Given the description of an element on the screen output the (x, y) to click on. 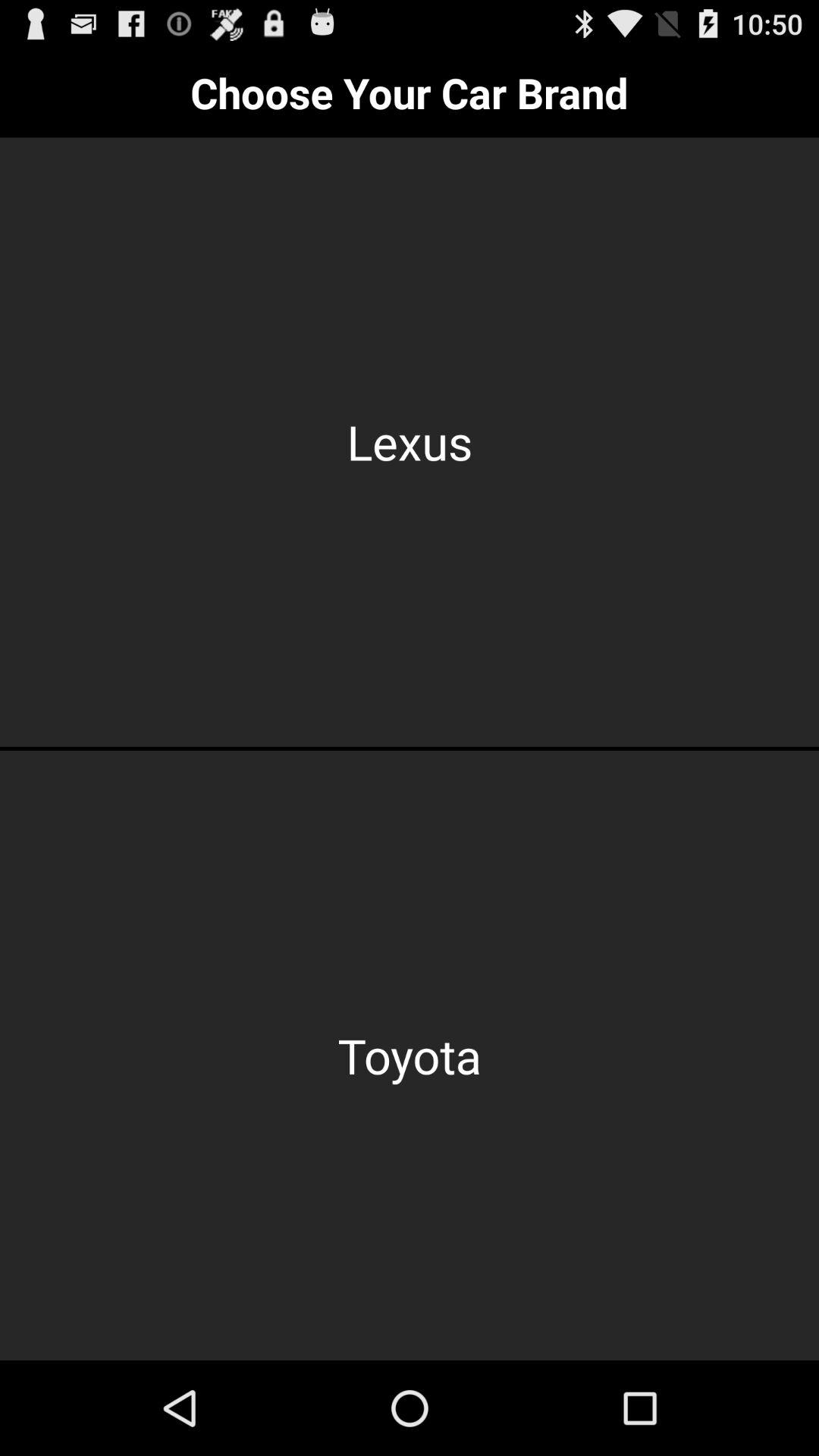
launch the toyota (409, 1055)
